Given the description of an element on the screen output the (x, y) to click on. 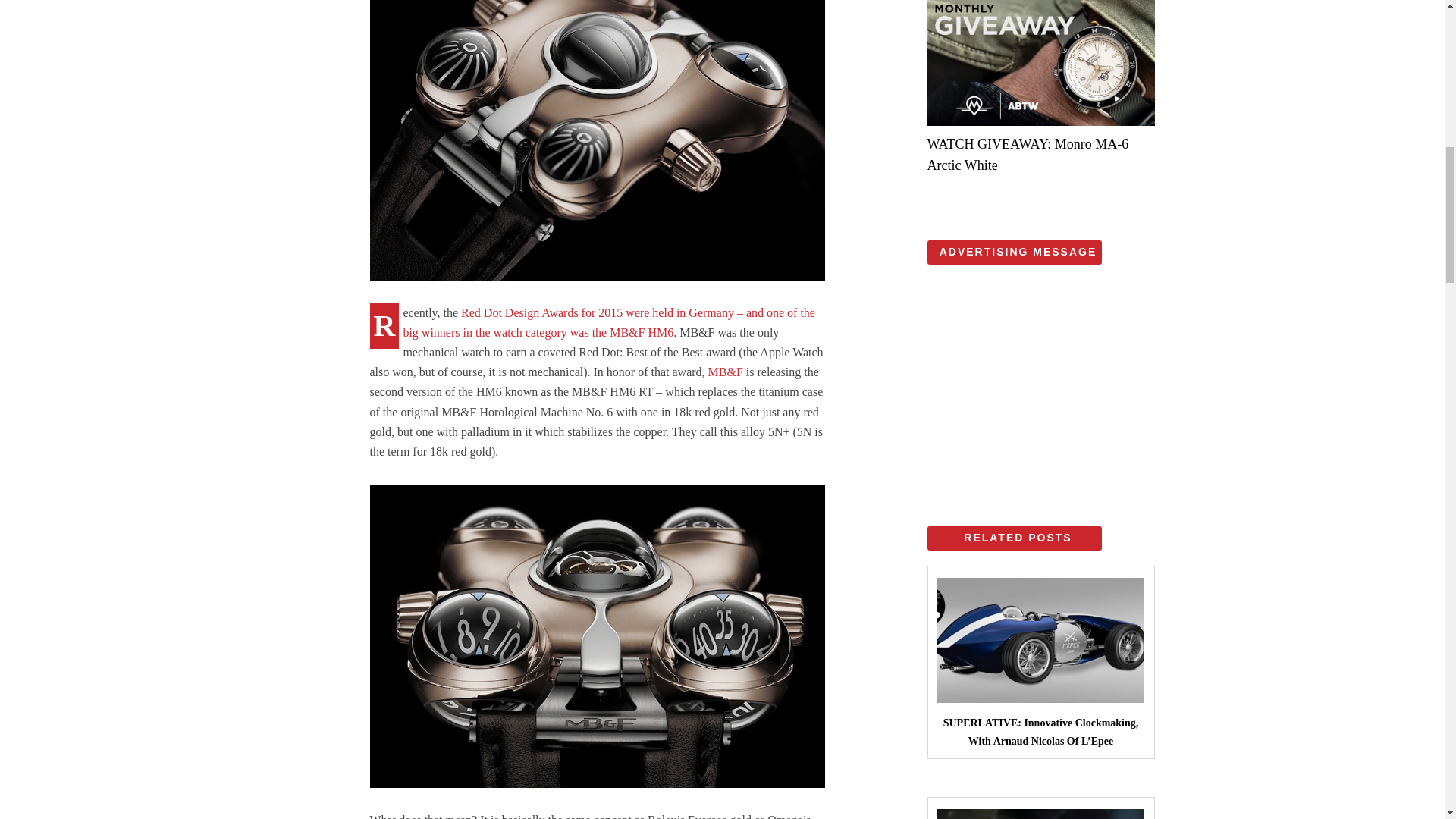
3rd party ad content (1040, 374)
